Given the description of an element on the screen output the (x, y) to click on. 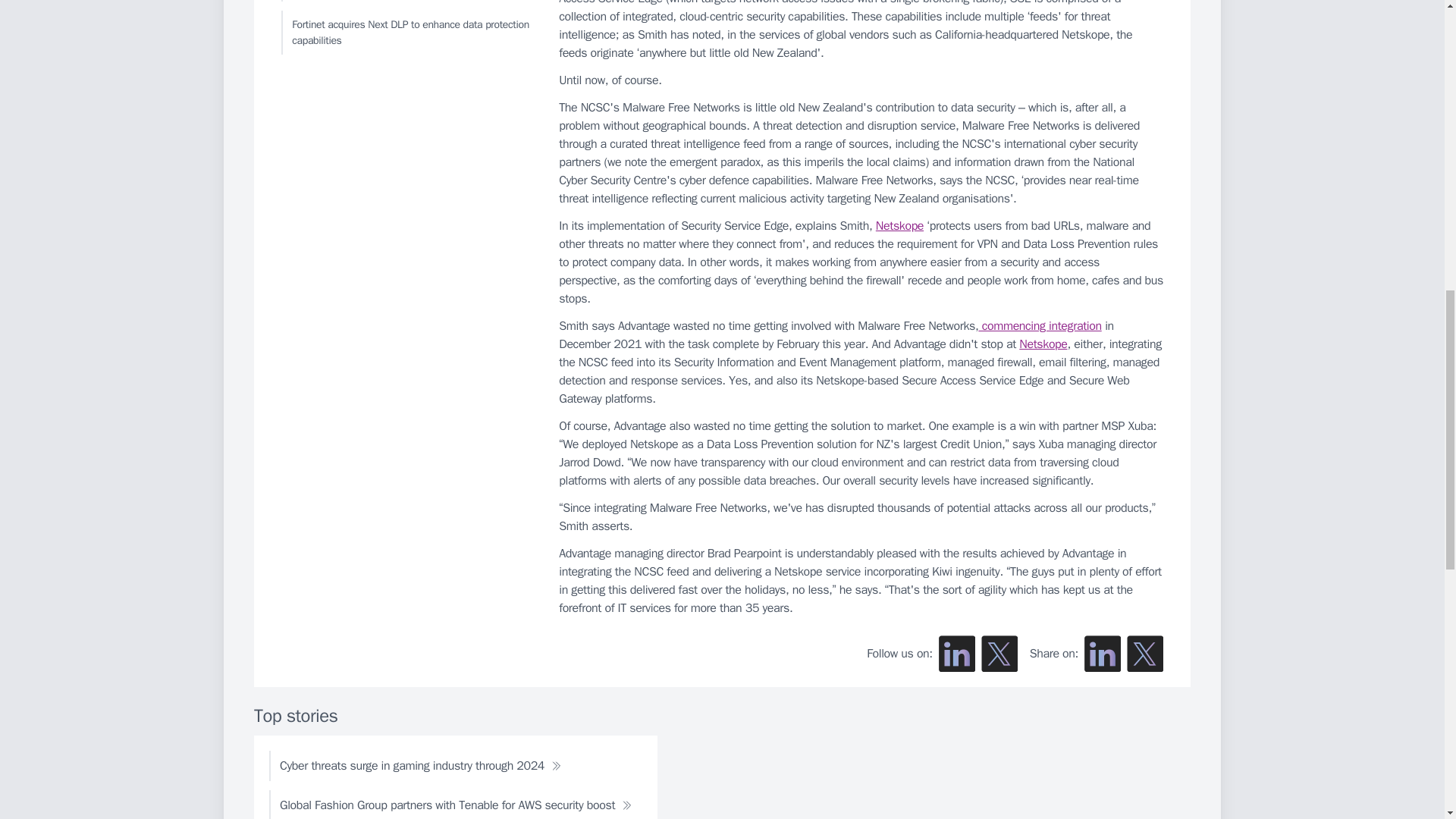
Cyber threats surge in gaming industry through 2024 (420, 766)
Netskope (899, 225)
Netskope (1043, 344)
commencing integration (1039, 325)
